Given the description of an element on the screen output the (x, y) to click on. 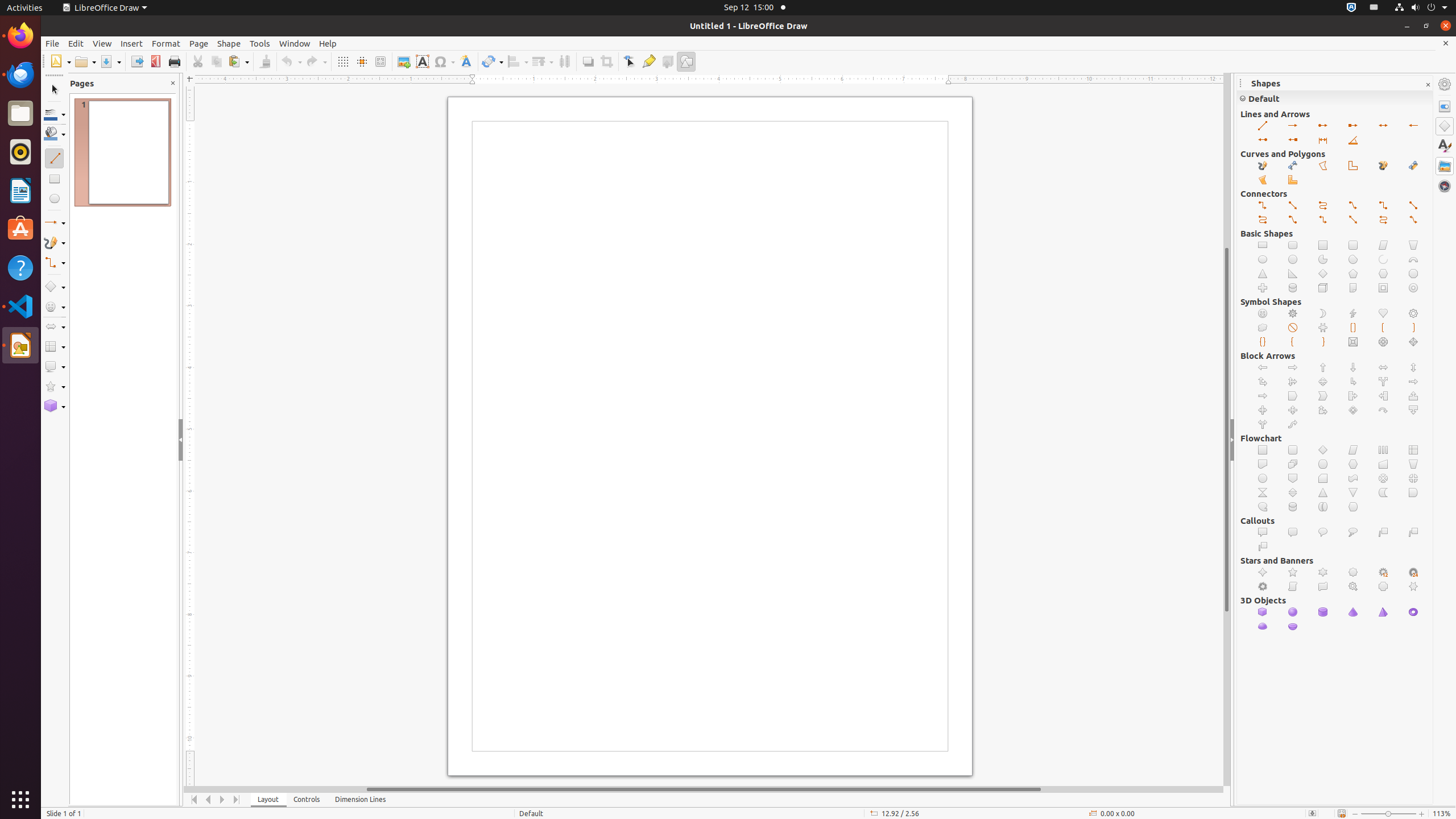
Line with Arrow/Circle Element type: list-item (1262, 140)
:1.72/StatusNotifierItem Element type: menu (1350, 7)
4-Point Star Element type: list-item (1262, 572)
System Element type: menu (1420, 7)
Format Element type: menu (165, 43)
